Given the description of an element on the screen output the (x, y) to click on. 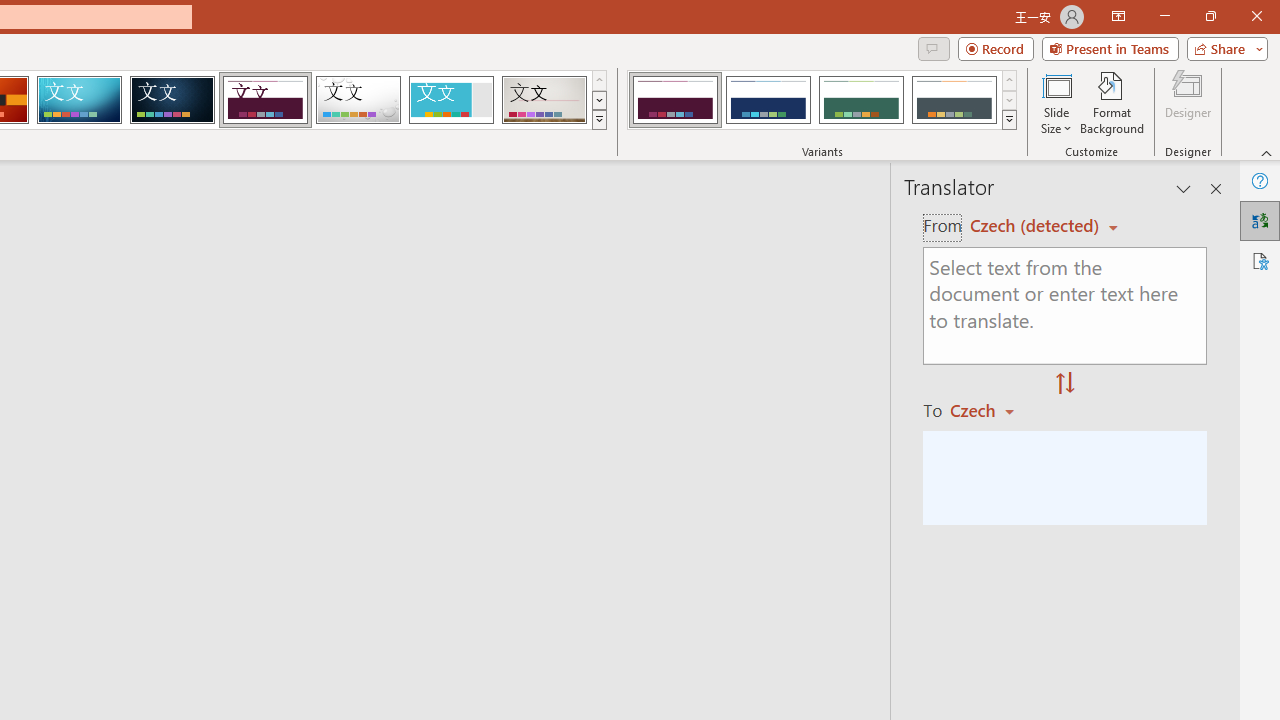
Dividend (265, 100)
